Given the description of an element on the screen output the (x, y) to click on. 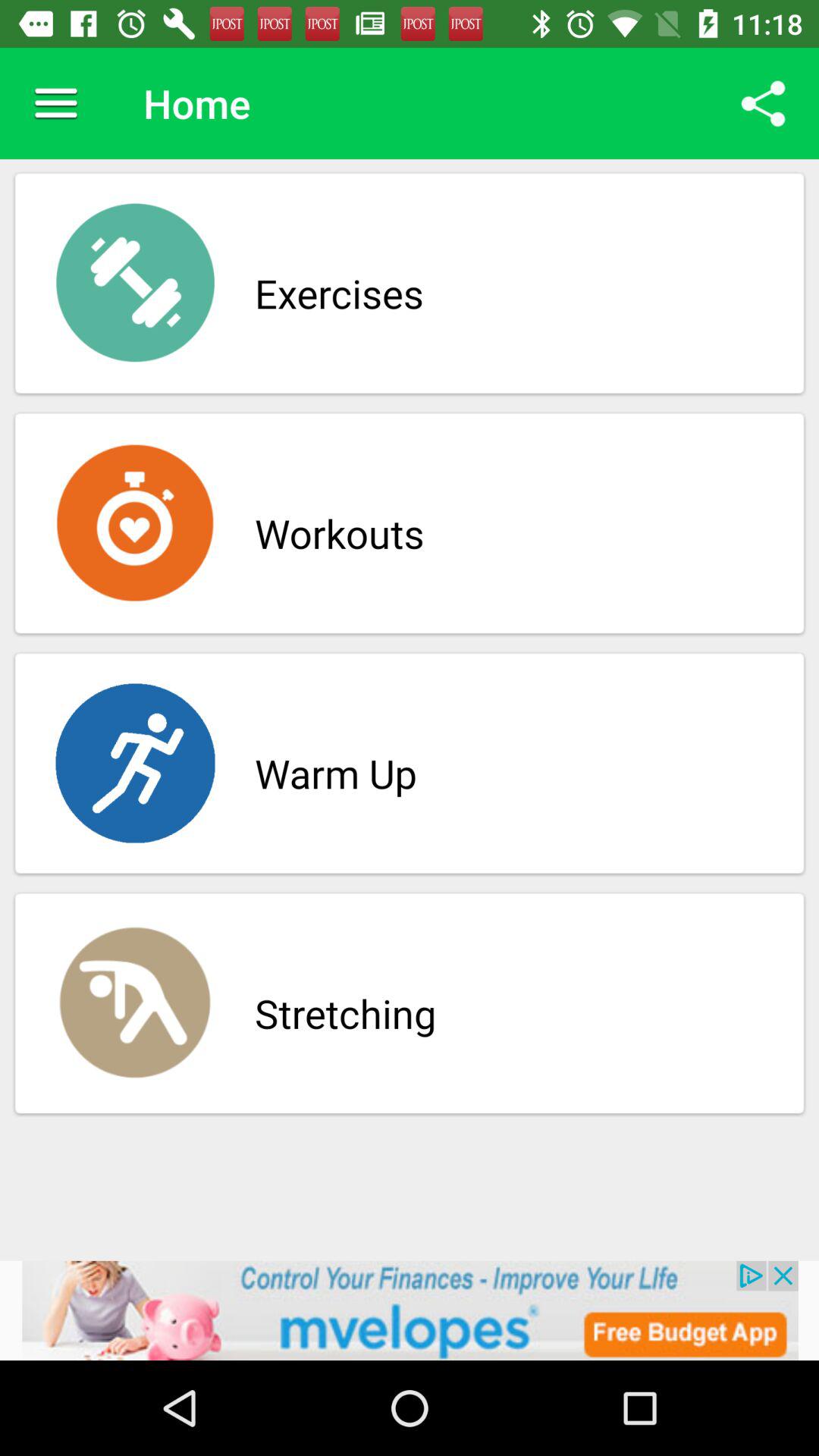
click to view mvelopes site or app page (409, 1310)
